Given the description of an element on the screen output the (x, y) to click on. 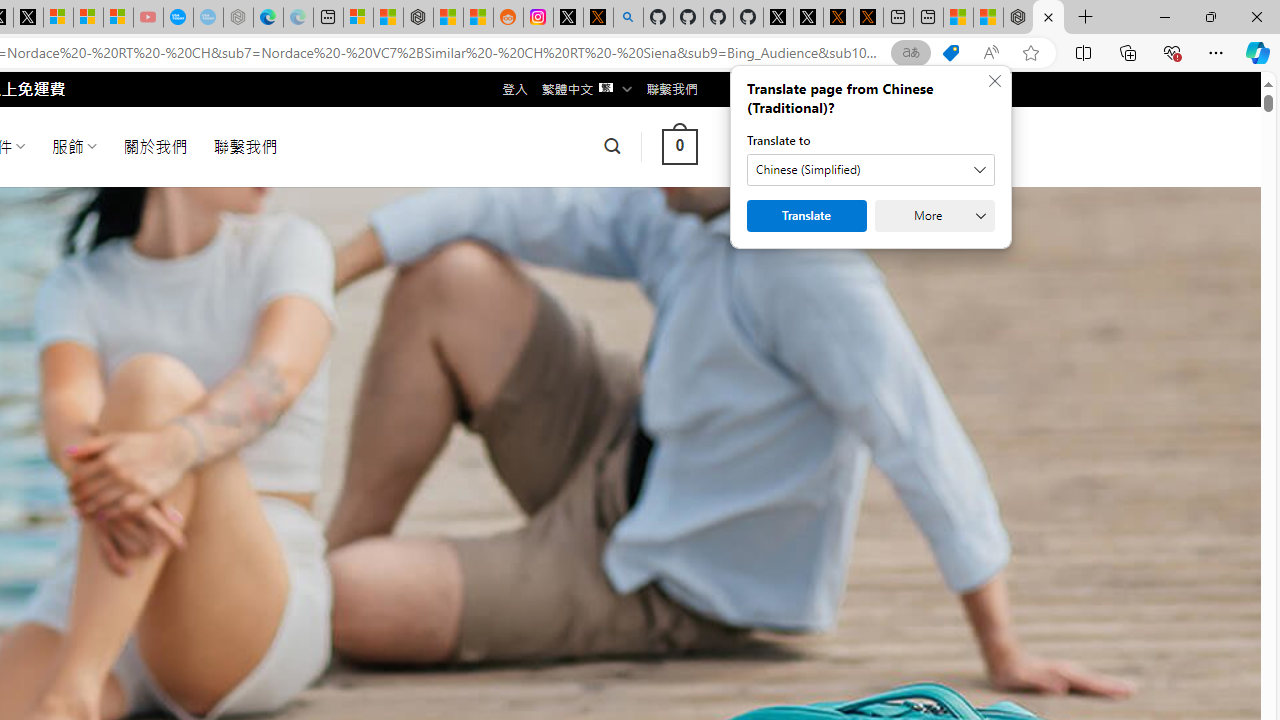
Opinion: Op-Ed and Commentary - USA TODAY (178, 17)
github - Search (628, 17)
Show translate options (910, 53)
Translate to (870, 169)
